Given the description of an element on the screen output the (x, y) to click on. 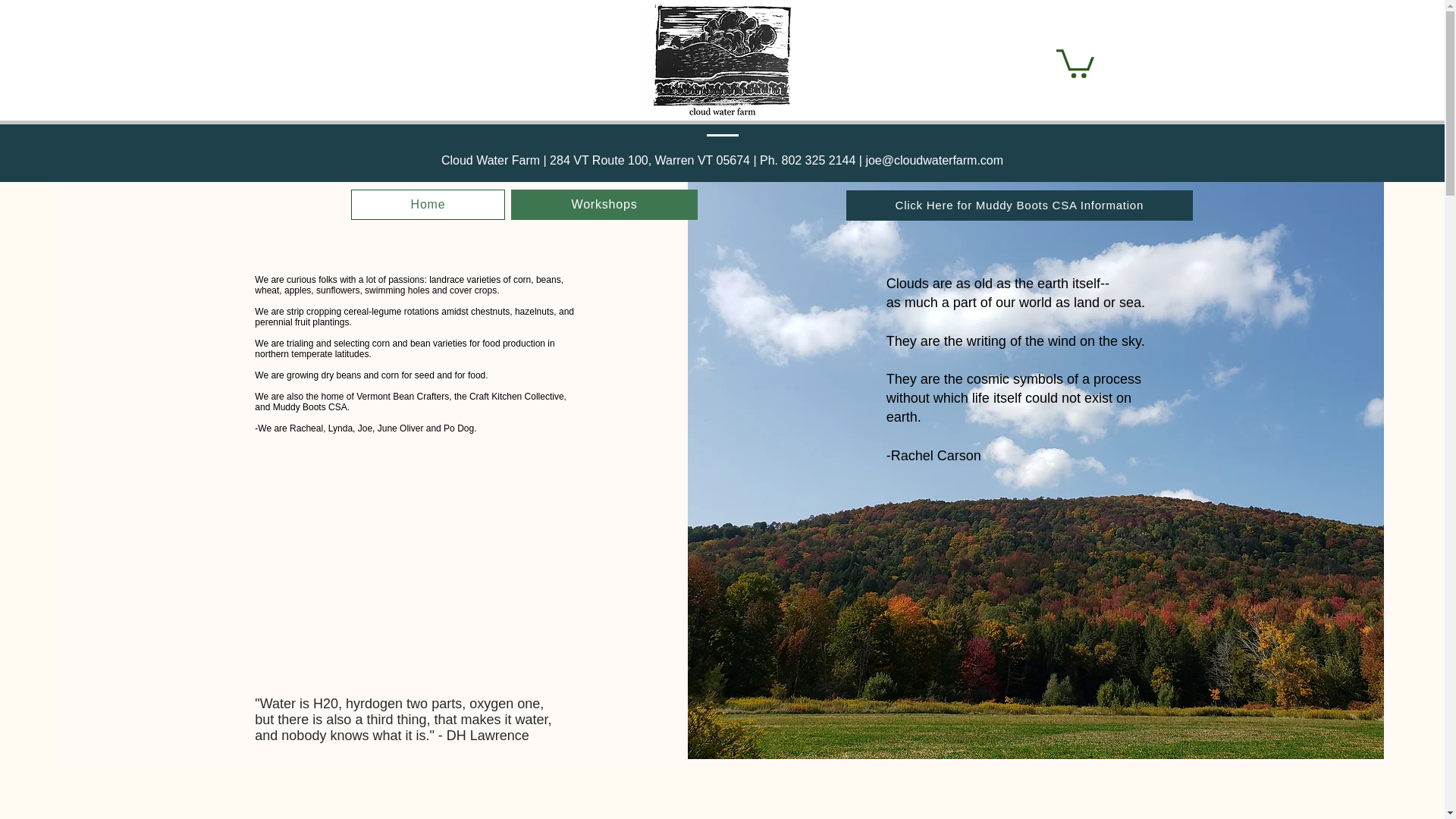
Home (427, 204)
Click Here for Muddy Boots CSA Information (1018, 205)
CWF Logo.jpg (721, 60)
Workshops (604, 204)
